Given the description of an element on the screen output the (x, y) to click on. 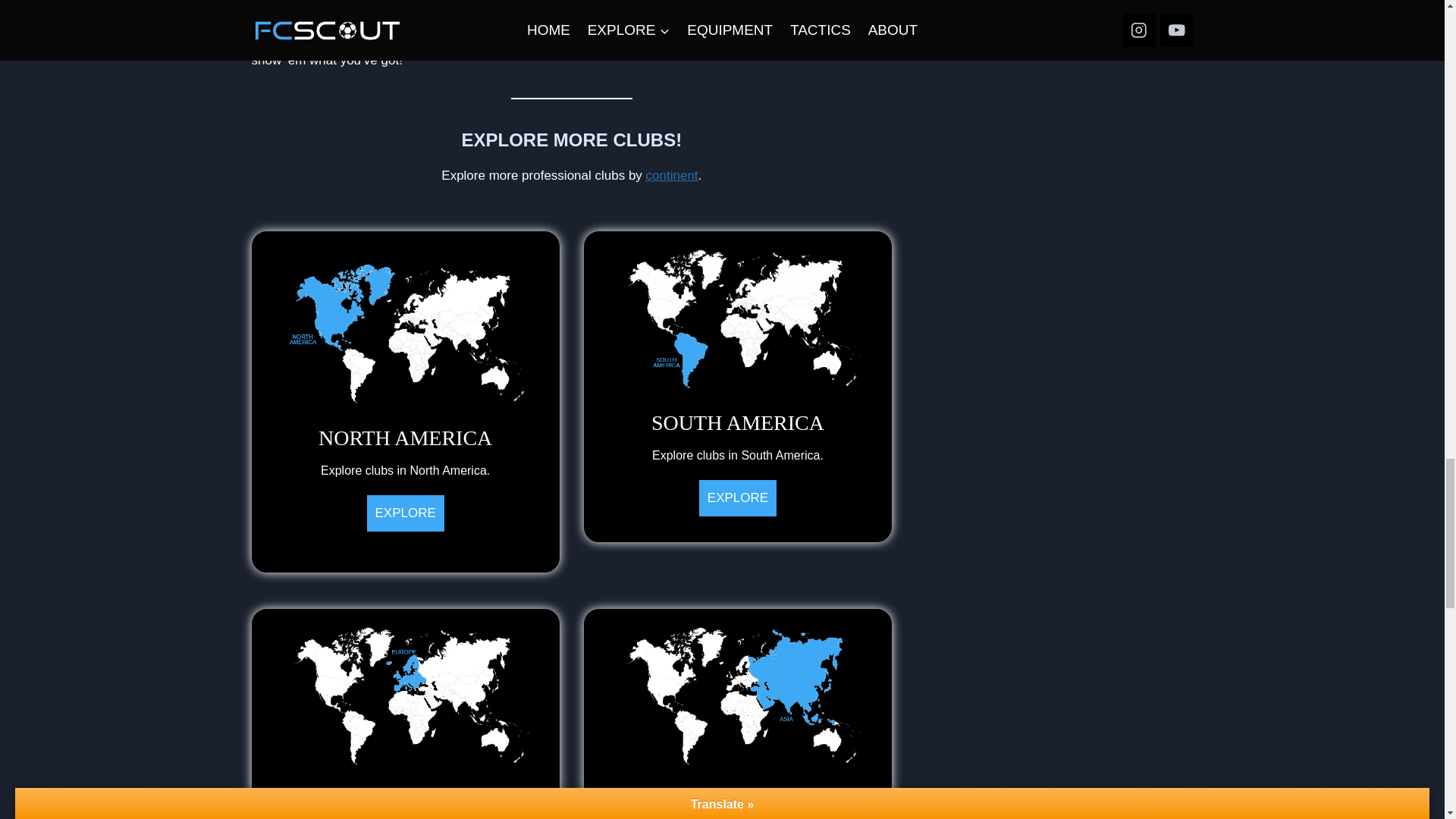
continent (405, 400)
